Given the description of an element on the screen output the (x, y) to click on. 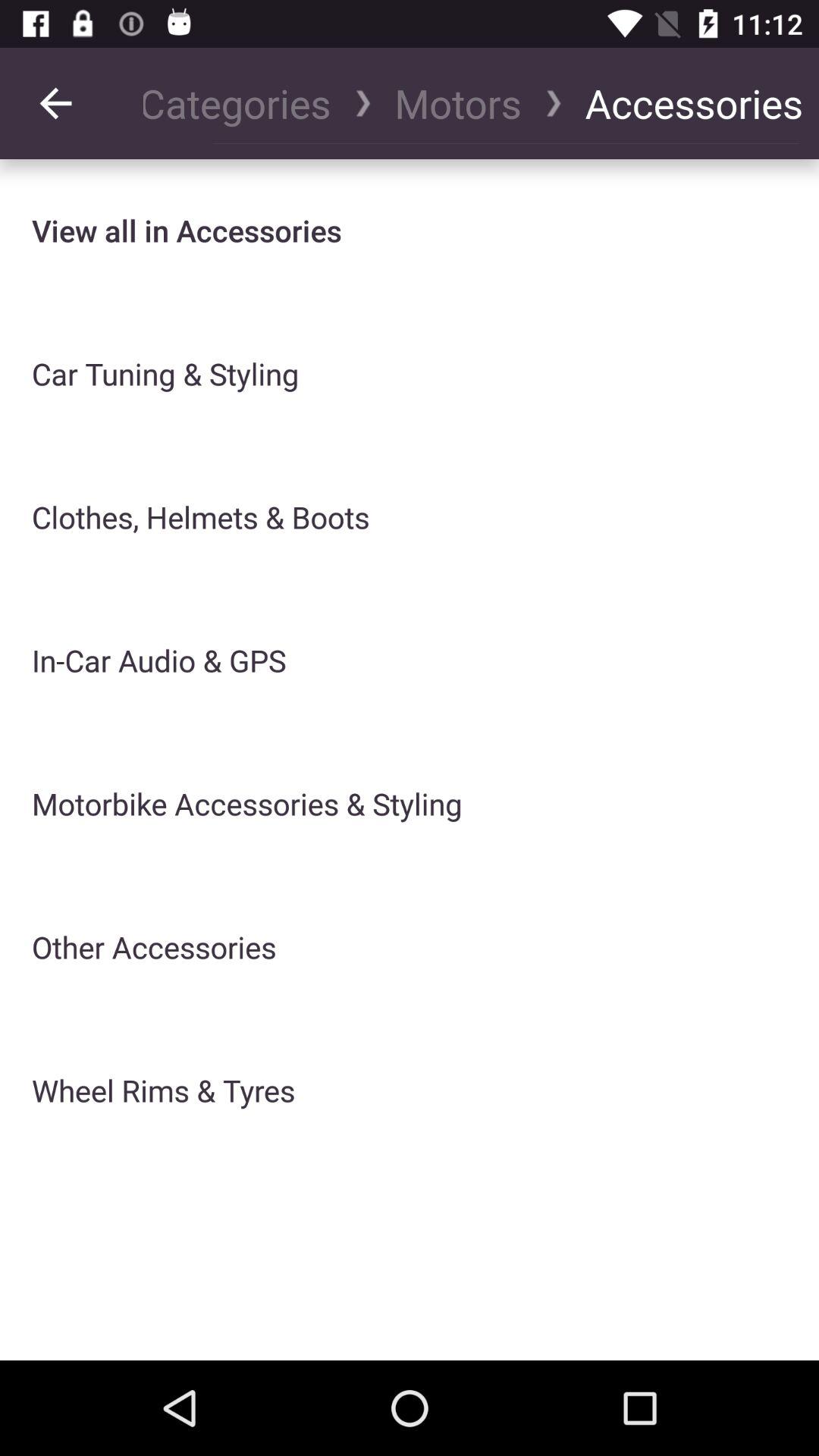
choose the motorbike accessories & styling item (246, 803)
